Given the description of an element on the screen output the (x, y) to click on. 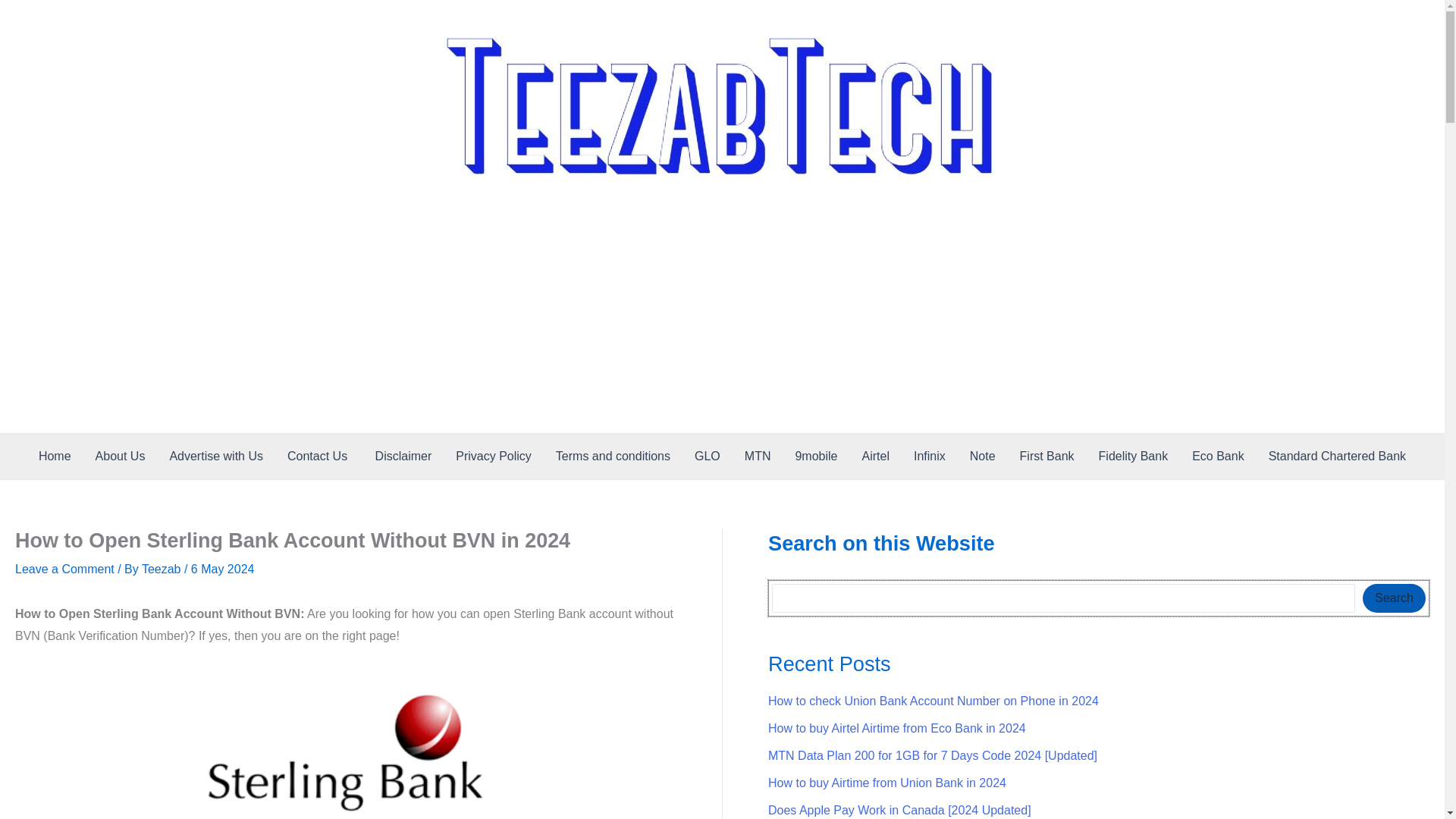
About Us (119, 456)
MTN (757, 456)
Teezab (162, 568)
Note (982, 456)
Disclaimer (403, 456)
First Bank (1046, 456)
View all posts by Teezab (162, 568)
Home (54, 456)
How to Open Sterling Bank Account Without BVN (346, 743)
GLO (707, 456)
Leave a Comment (64, 568)
Terms and conditions (612, 456)
Infinix (929, 456)
Privacy Policy (493, 456)
